Given the description of an element on the screen output the (x, y) to click on. 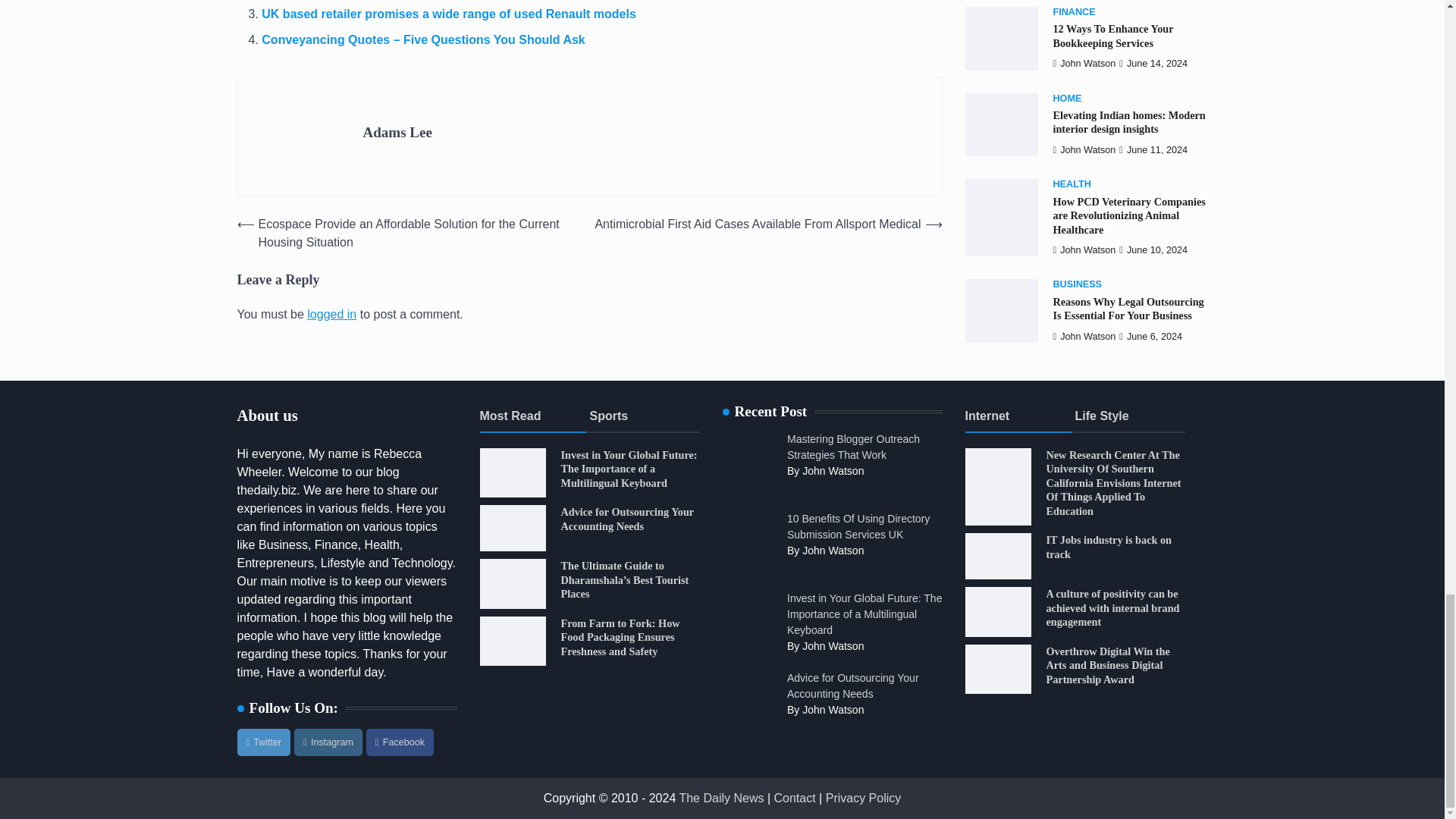
logged in (331, 314)
